Given the description of an element on the screen output the (x, y) to click on. 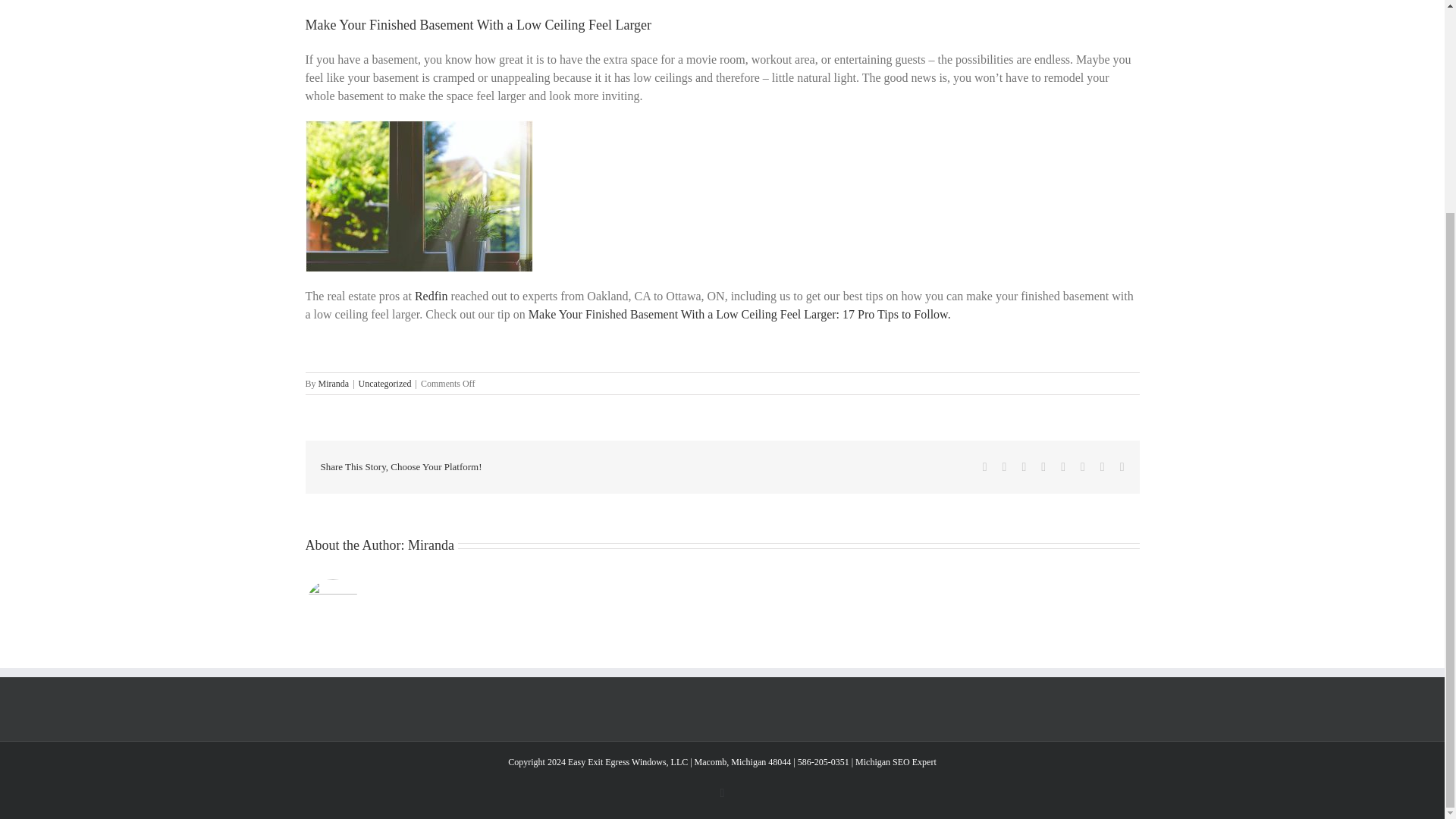
Miranda (333, 383)
Posts by Miranda (430, 544)
Uncategorized (385, 383)
Miranda (430, 544)
586-205-0351 (822, 761)
Posts by Miranda (333, 383)
Redfin (431, 295)
Michigan SEO Expert (896, 761)
